Given the description of an element on the screen output the (x, y) to click on. 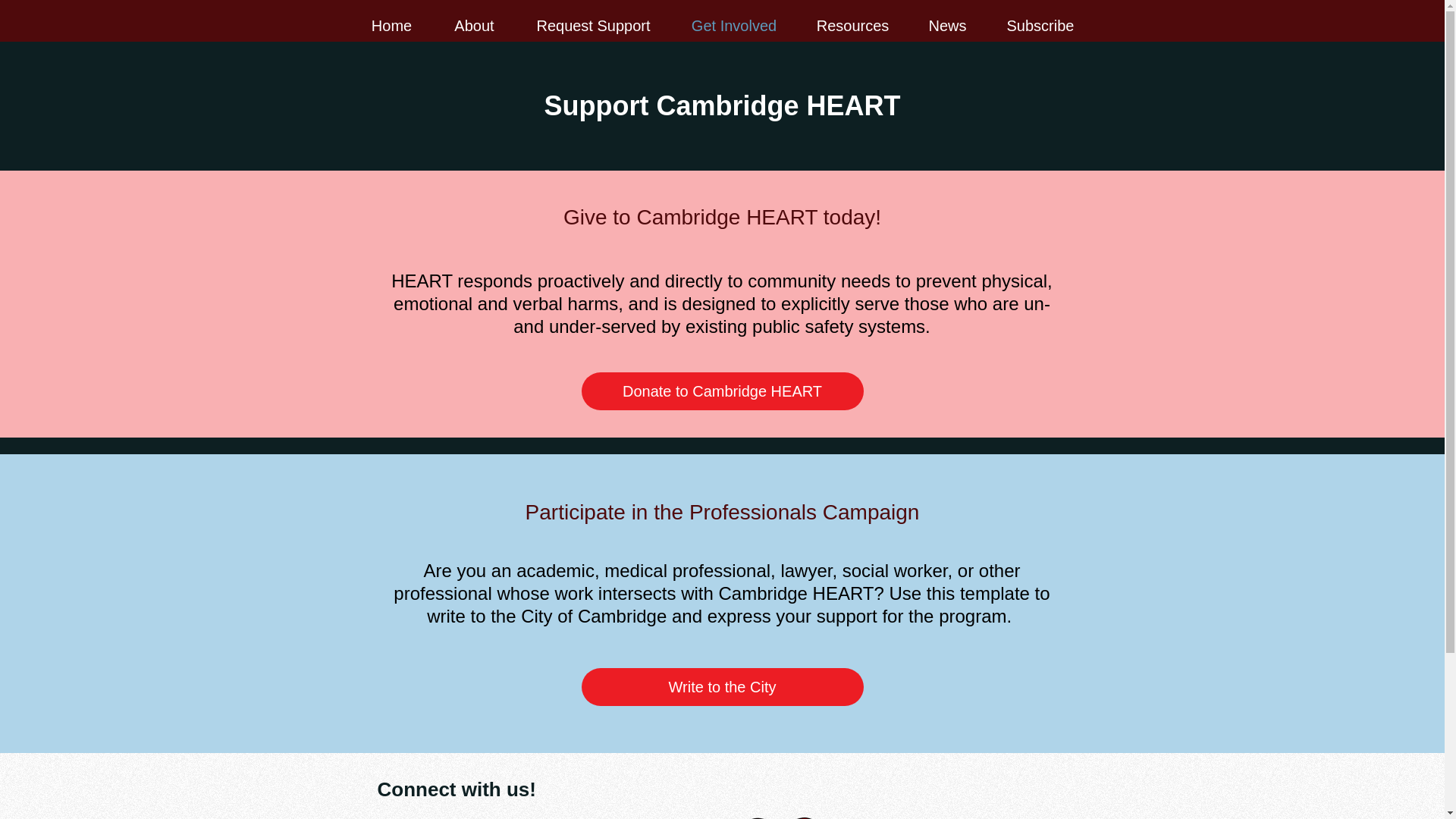
Resources (852, 25)
Home (391, 25)
Request Support (592, 25)
Get Involved (732, 25)
Write to the City (721, 686)
News (947, 25)
Donate to Cambridge HEART (721, 391)
Subscribe (1040, 25)
About (473, 25)
